Given the description of an element on the screen output the (x, y) to click on. 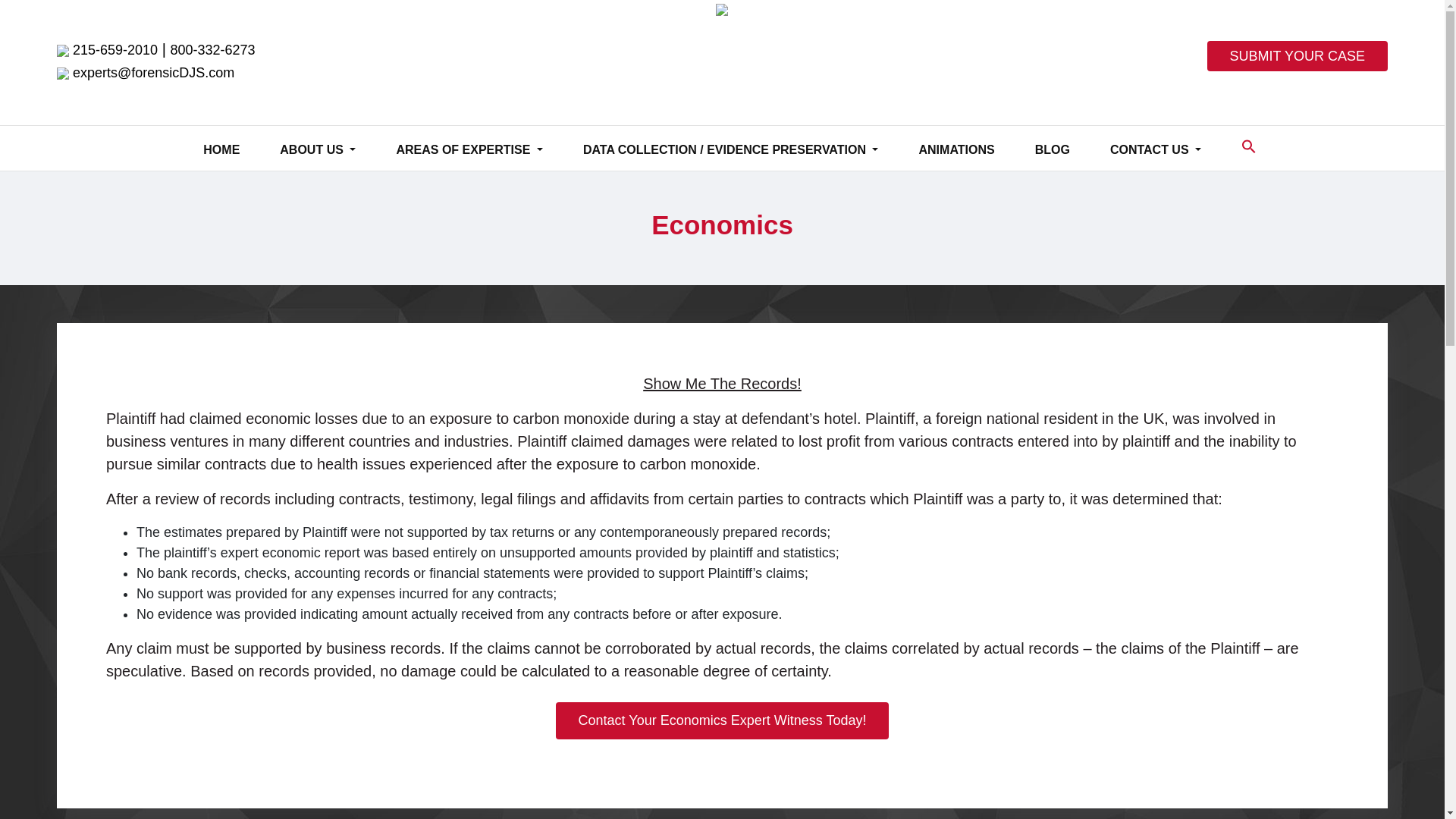
Contact Your Economics Expert Witness Today! (722, 720)
215-659-2010 (114, 49)
ABOUT US (317, 149)
AREAS OF EXPERTISE (468, 149)
SUBMIT YOUR CASE (1297, 55)
800-332-6273 (212, 49)
CONTACT US (1155, 149)
HOME (221, 149)
BLOG (1052, 149)
ANIMATIONS (956, 149)
